Given the description of an element on the screen output the (x, y) to click on. 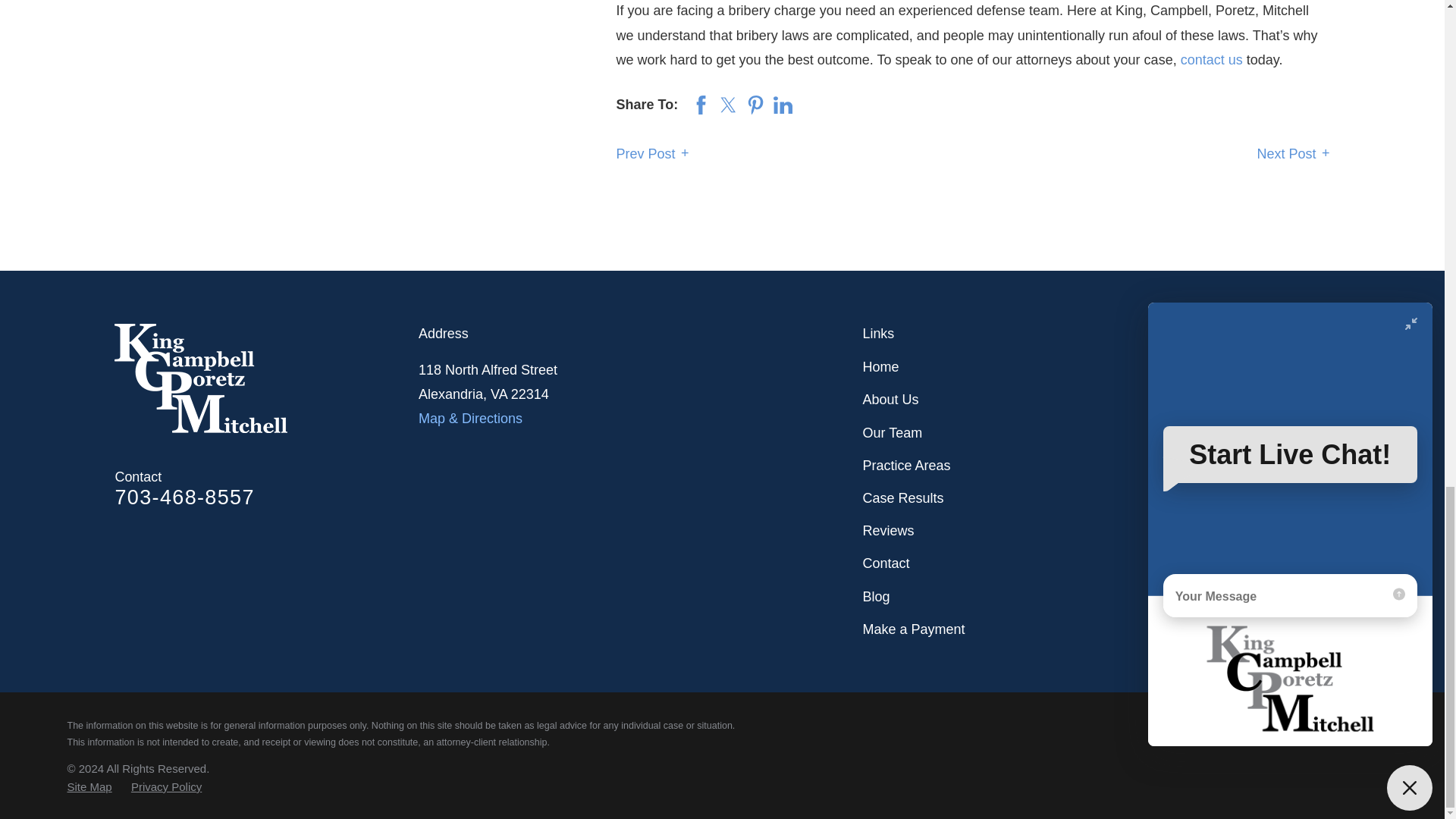
Home (267, 378)
LinkedIn (1278, 366)
King, Campbell, Poretz, and Mitchell (200, 378)
Facebook (1317, 366)
